Given the description of an element on the screen output the (x, y) to click on. 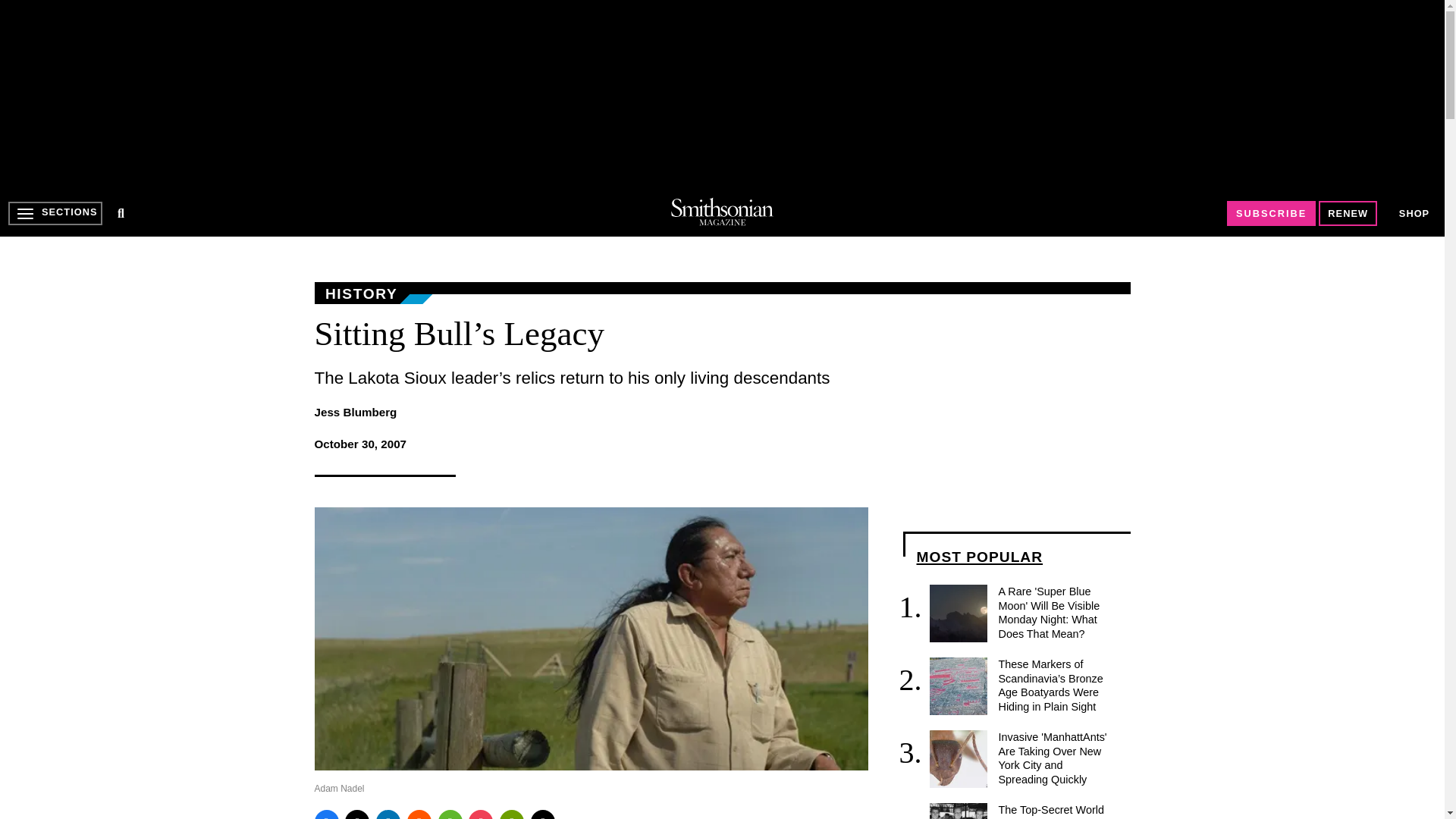
SUBSCRIBE (1271, 213)
SHOP (1413, 212)
WhatsApp (450, 814)
SUBSCRIBE (1271, 212)
Pocket (480, 814)
SHOP (1414, 213)
Email (542, 814)
Facebook (325, 814)
Twitter (357, 814)
Print (511, 814)
